Given the description of an element on the screen output the (x, y) to click on. 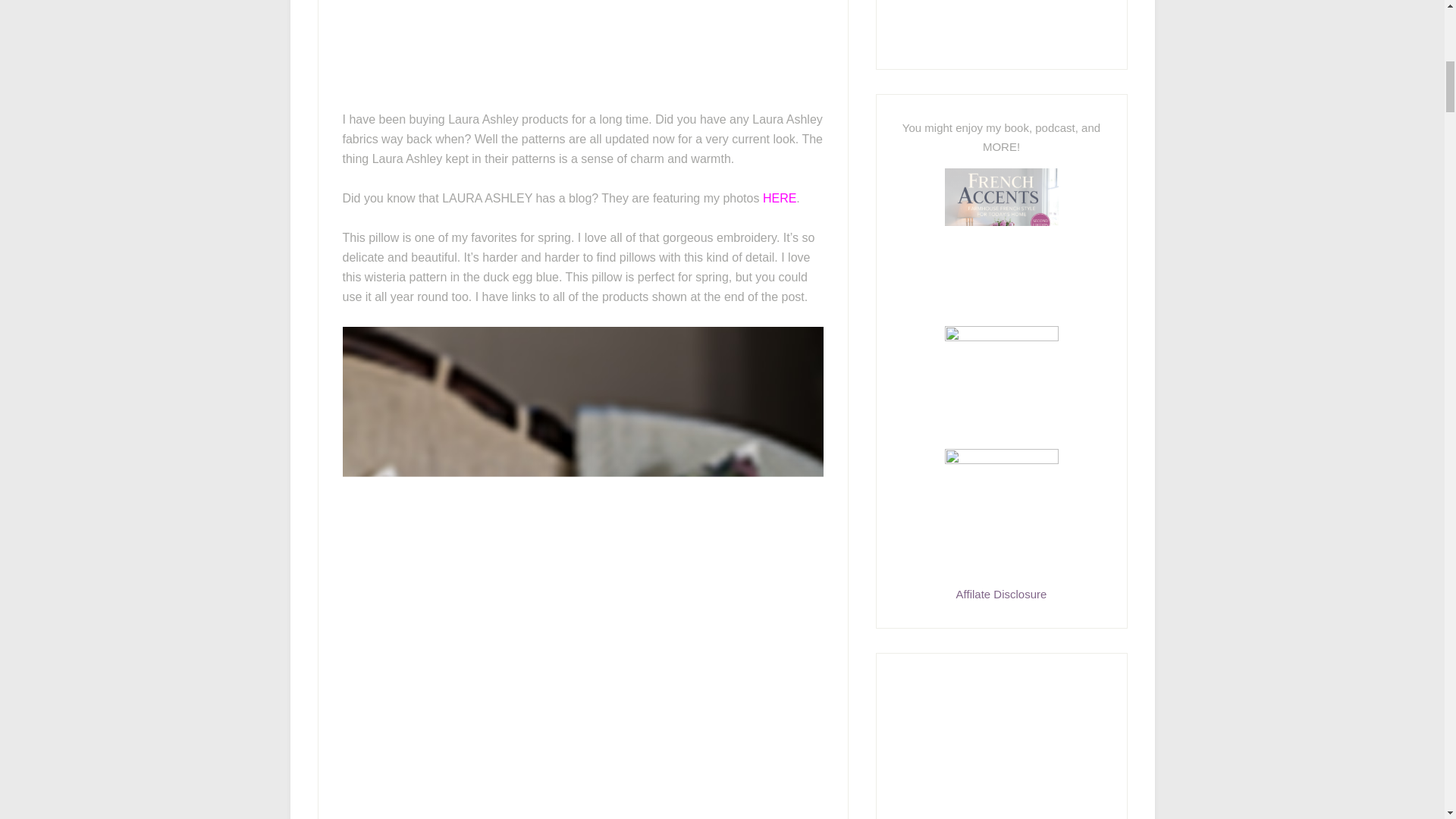
HERE (779, 196)
